Given the description of an element on the screen output the (x, y) to click on. 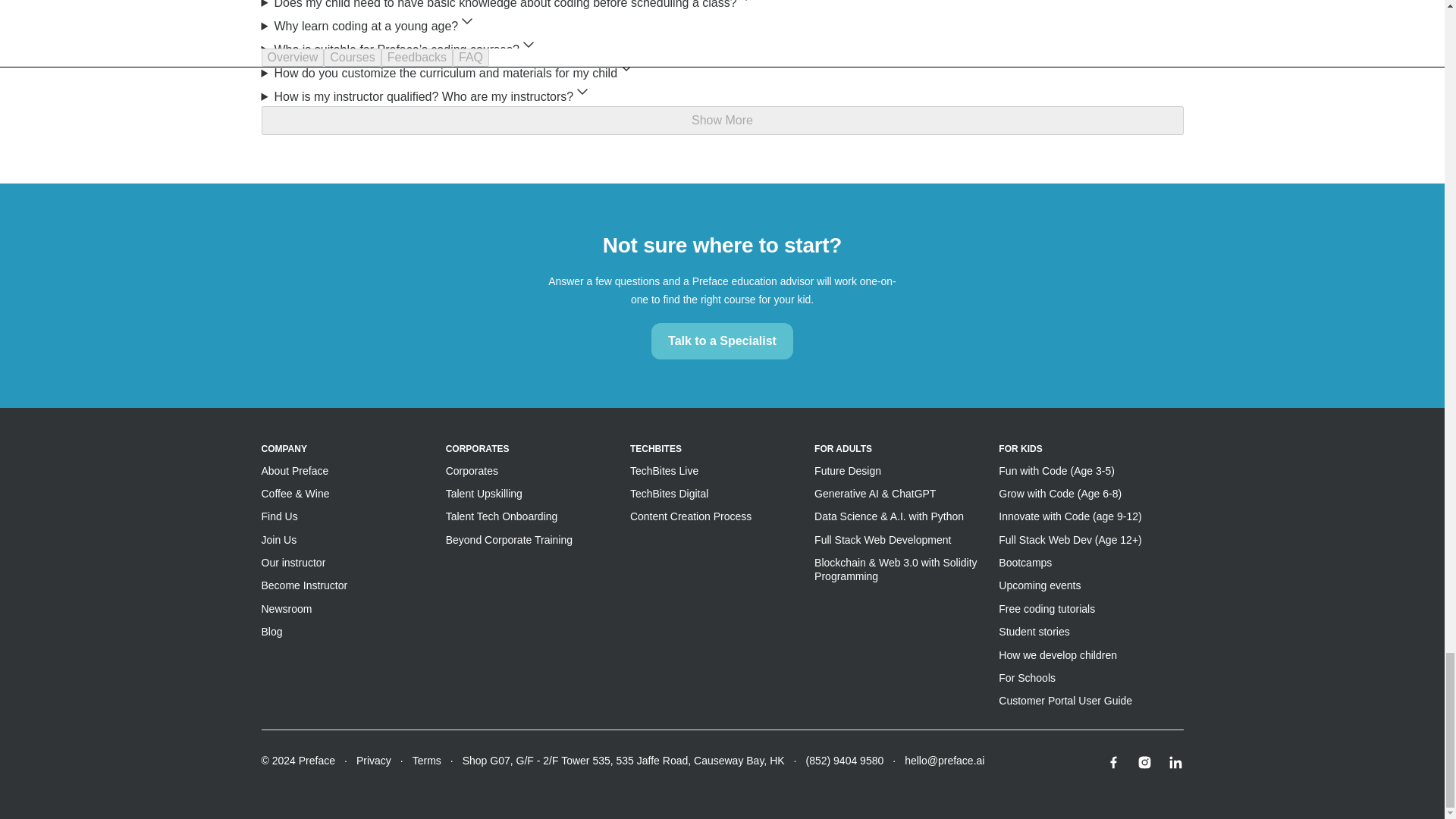
Show More (721, 120)
About Preface (294, 470)
Find Us (278, 516)
Corporates (471, 470)
Become Instructor (303, 585)
Talk to a Specialist (721, 340)
Talent Tech Onboarding (501, 516)
Join Us (278, 539)
Talent Upskilling (483, 493)
Blog (271, 631)
Talk to a Specialist (721, 340)
Our instructor (292, 562)
Newsroom (285, 608)
